Given the description of an element on the screen output the (x, y) to click on. 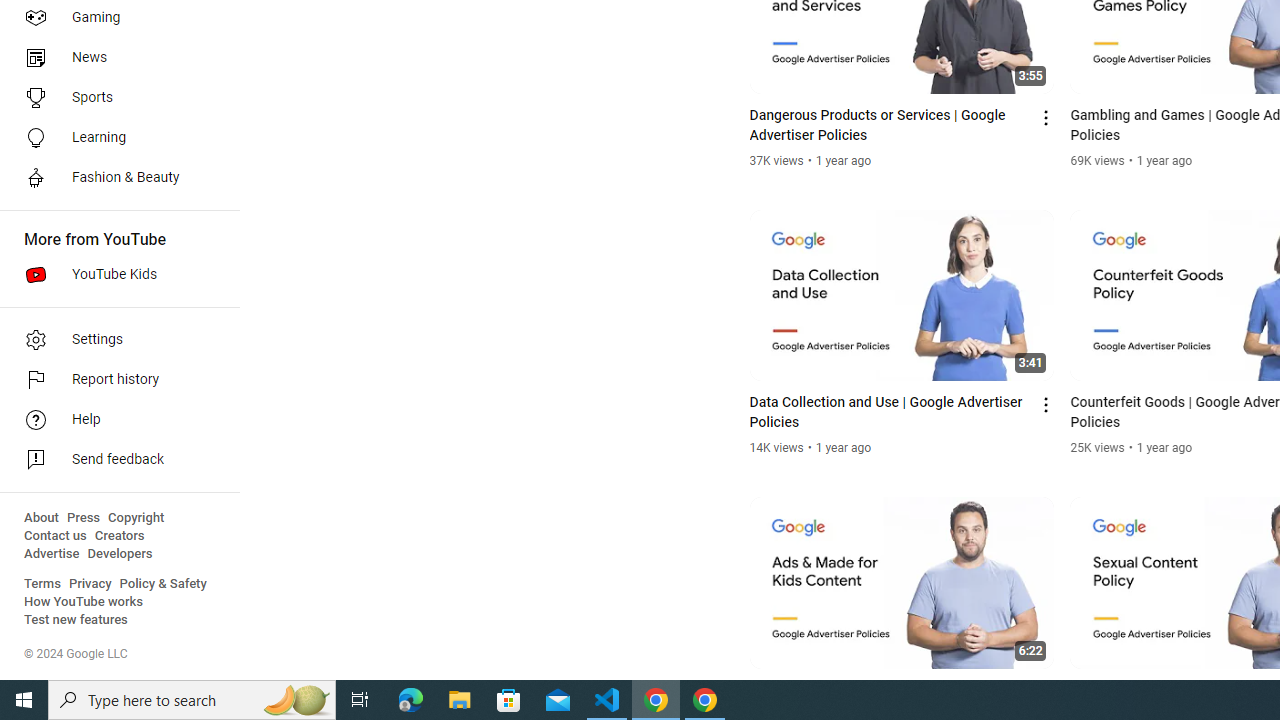
Privacy (89, 584)
Developers (120, 554)
Settings (113, 339)
How YouTube works (83, 602)
Report history (113, 380)
YouTube Kids (113, 274)
Contact us (55, 536)
Press (83, 518)
News (113, 57)
Creators (118, 536)
Sports (113, 97)
Policy & Safety (163, 584)
Advertise (51, 554)
Fashion & Beauty (113, 177)
